Given the description of an element on the screen output the (x, y) to click on. 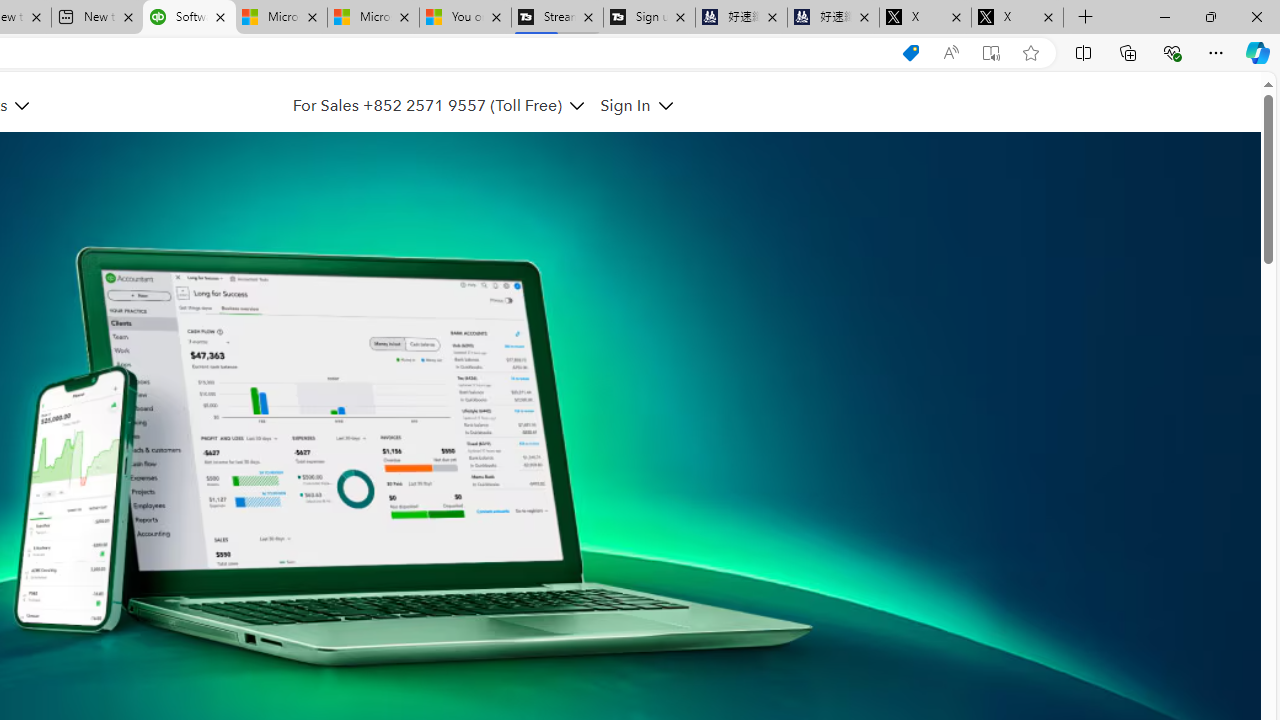
Shopping in Microsoft Edge (910, 53)
For Sales +852 2571 9557 (Toll Free) (437, 105)
For Sales +852 2571 9557 (Toll Free) (427, 105)
Sign In (625, 105)
Enter Immersive Reader (F9) (991, 53)
